Given the description of an element on the screen output the (x, y) to click on. 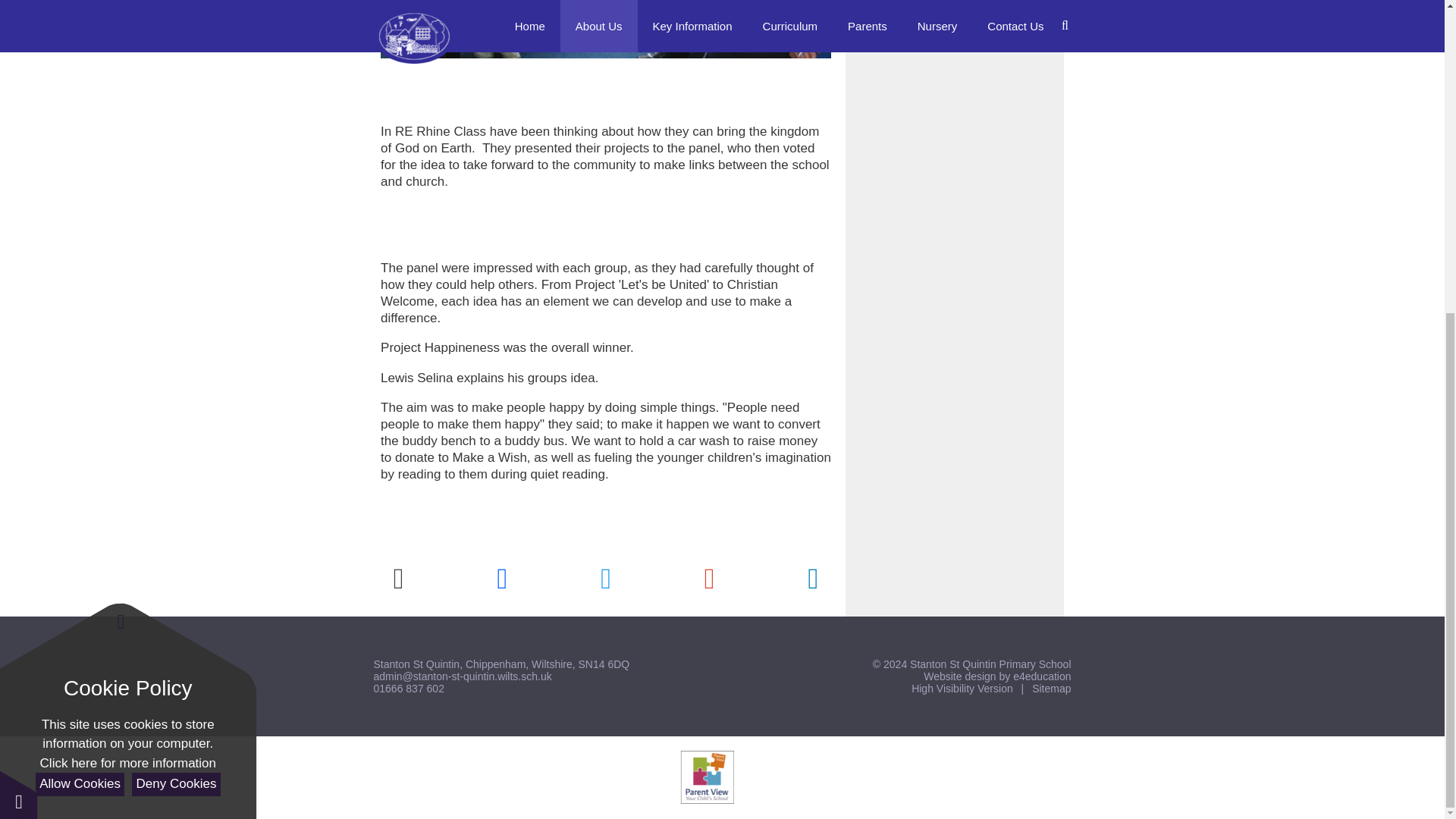
Click here for more information (127, 262)
e4education (1041, 676)
Deny Cookies (175, 283)
Deny Cookies (175, 283)
Sitemap (1051, 688)
Allow Cookies (78, 283)
Allow Cookies (78, 283)
Parent View (707, 777)
See cookie policy (127, 262)
